Given the description of an element on the screen output the (x, y) to click on. 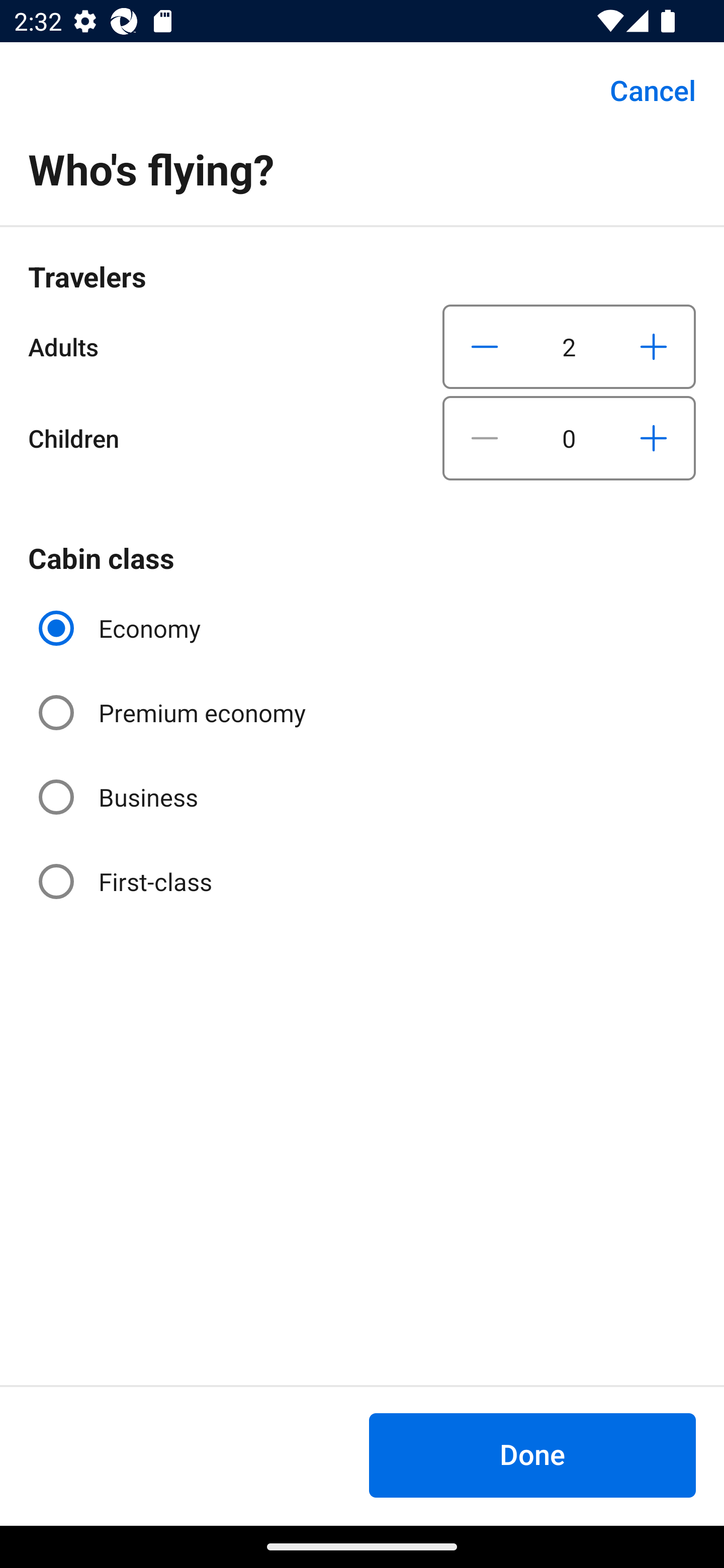
Cancel (641, 90)
Decrease (484, 346)
Increase (653, 346)
Decrease (484, 437)
Increase (653, 437)
Economy (121, 628)
Premium economy (174, 712)
Business (120, 796)
First-class (126, 880)
Done (532, 1454)
